Given the description of an element on the screen output the (x, y) to click on. 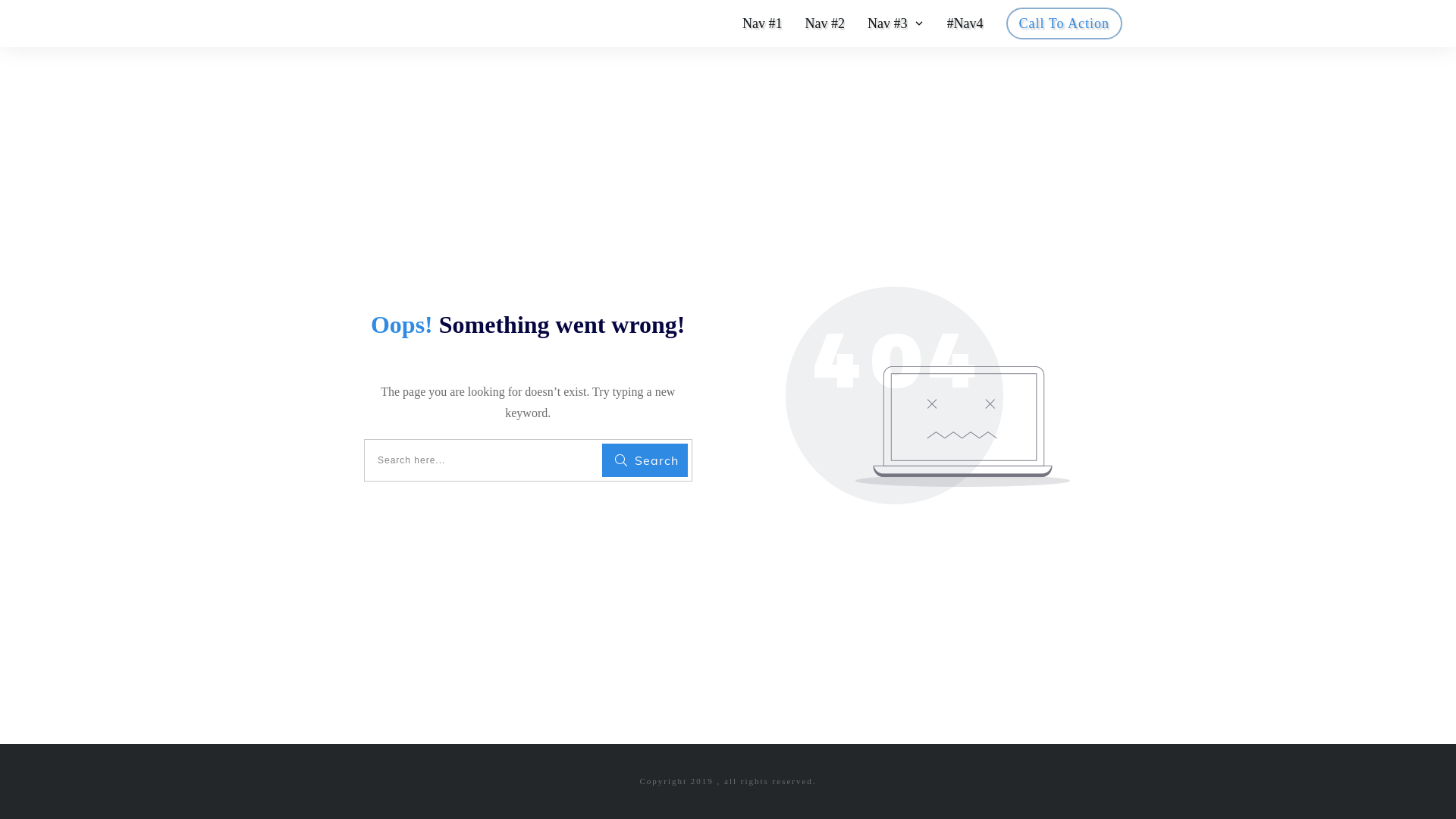
Nav #3 Element type: text (895, 23)
404 Element type: hover (927, 395)
Call To Action Element type: text (1064, 23)
#Nav4 Element type: text (965, 23)
Nav #2 Element type: text (825, 23)
Nav #1 Element type: text (762, 23)
Search Element type: text (644, 459)
